Given the description of an element on the screen output the (x, y) to click on. 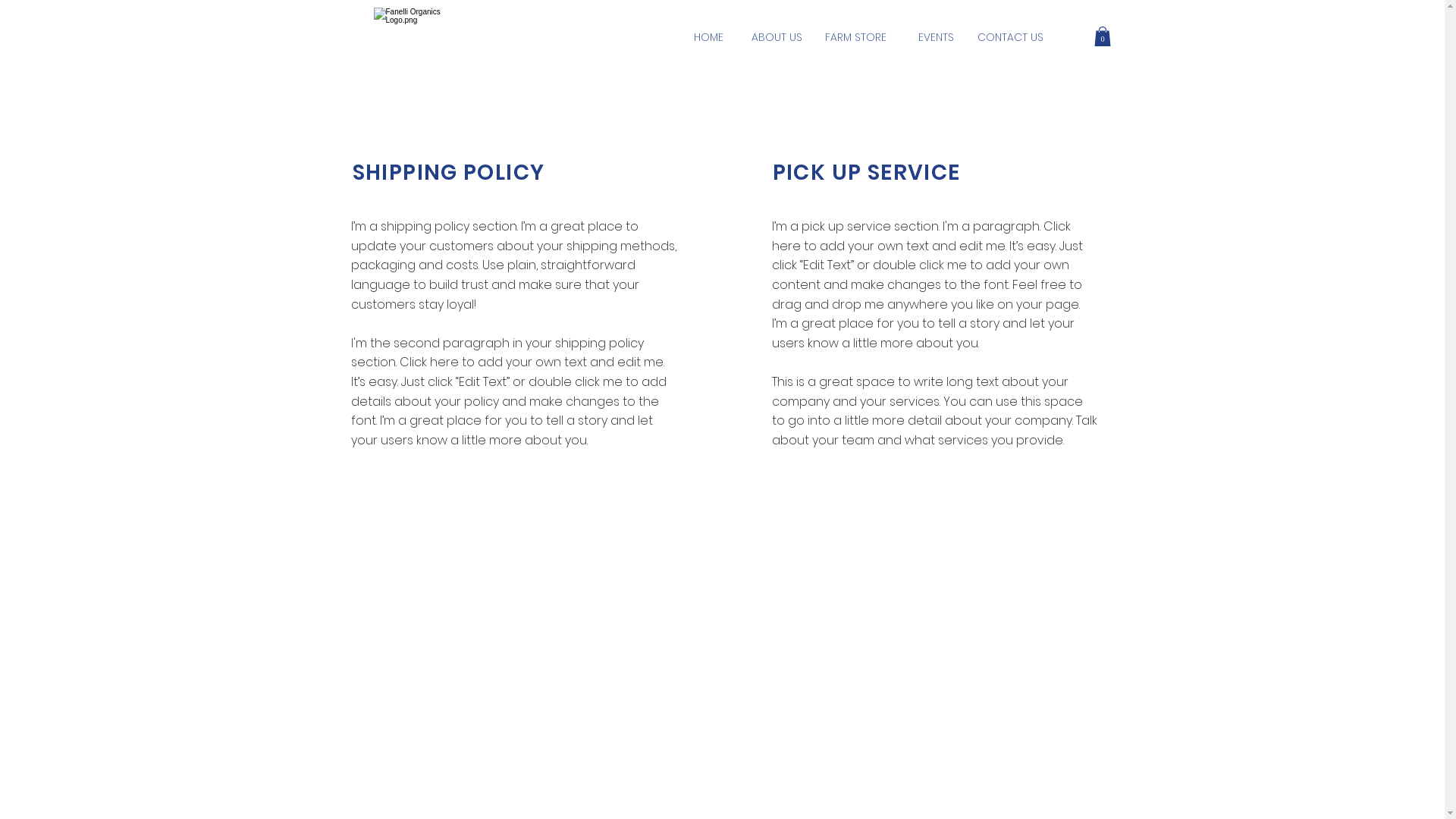
0 Element type: text (1101, 36)
FARM STORE Element type: text (854, 37)
HOME Element type: text (707, 37)
EVENTS Element type: text (934, 37)
CONTACT US Element type: text (1009, 37)
ABOUT US Element type: text (775, 37)
